Given the description of an element on the screen output the (x, y) to click on. 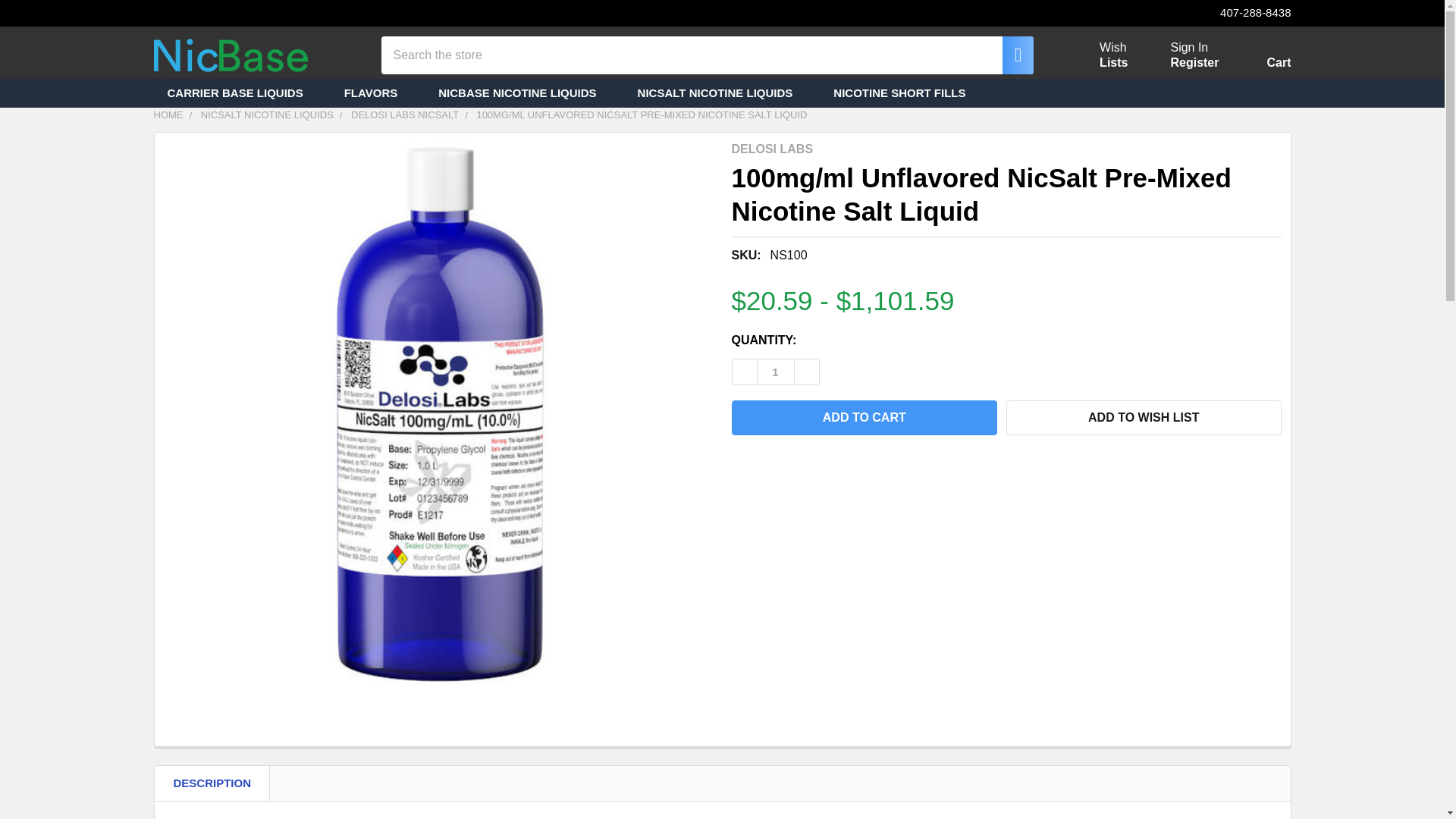
Cart (1260, 58)
407-288-8438 (1242, 13)
FLAVORS (377, 93)
NICSALT NICOTINE LIQUIDS (722, 93)
DELOSI LABS NICSALT (404, 114)
HOME (167, 114)
NICOTINE SHORT FILLS (905, 93)
Register (1194, 62)
Cart (1260, 58)
1 (775, 371)
NicBase (229, 55)
Sign In (1095, 55)
NICBASE NICOTINE LIQUIDS (1189, 47)
CARRIER BASE LIQUIDS (524, 93)
